Given the description of an element on the screen output the (x, y) to click on. 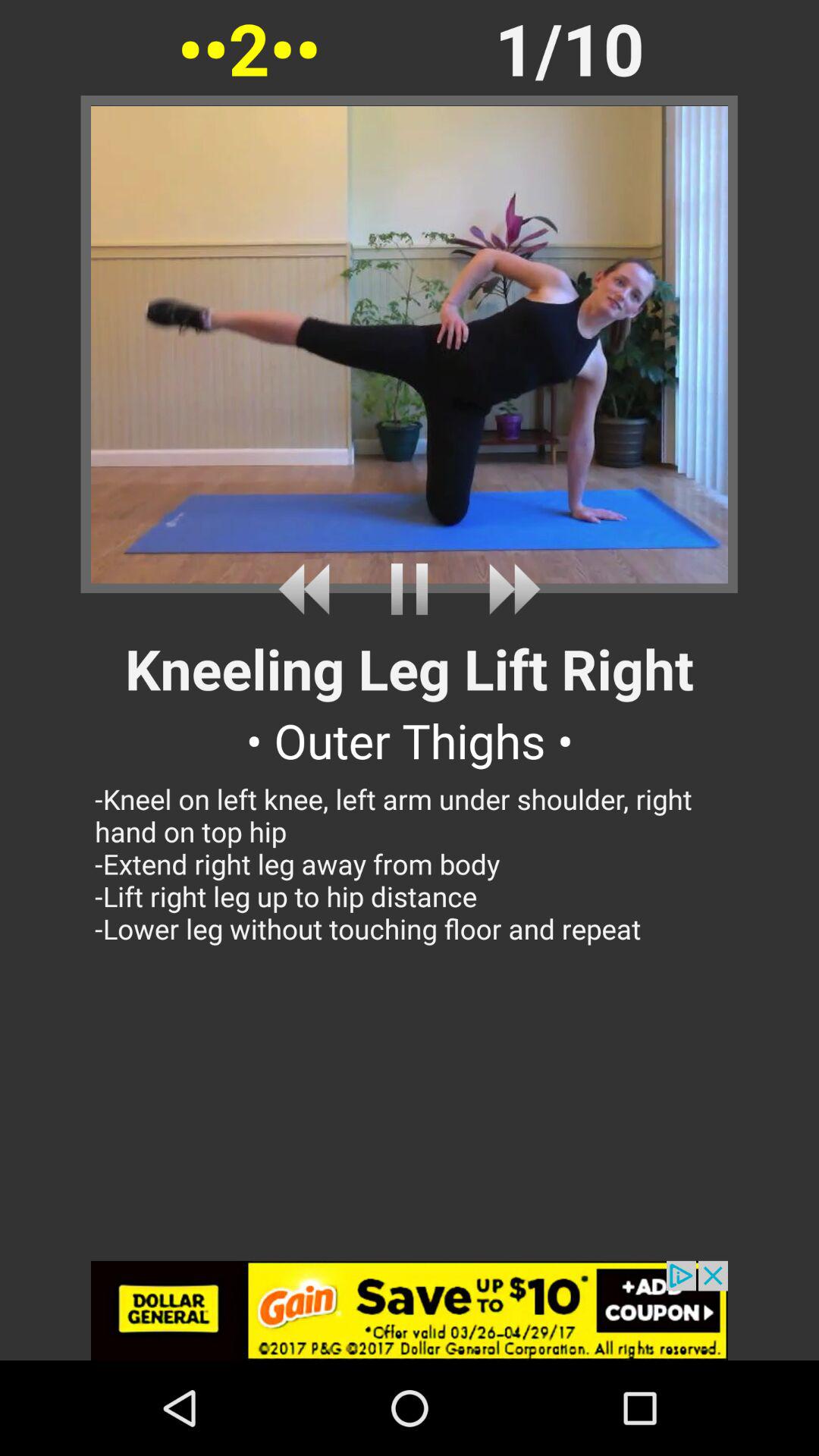
go to previous (309, 589)
